Given the description of an element on the screen output the (x, y) to click on. 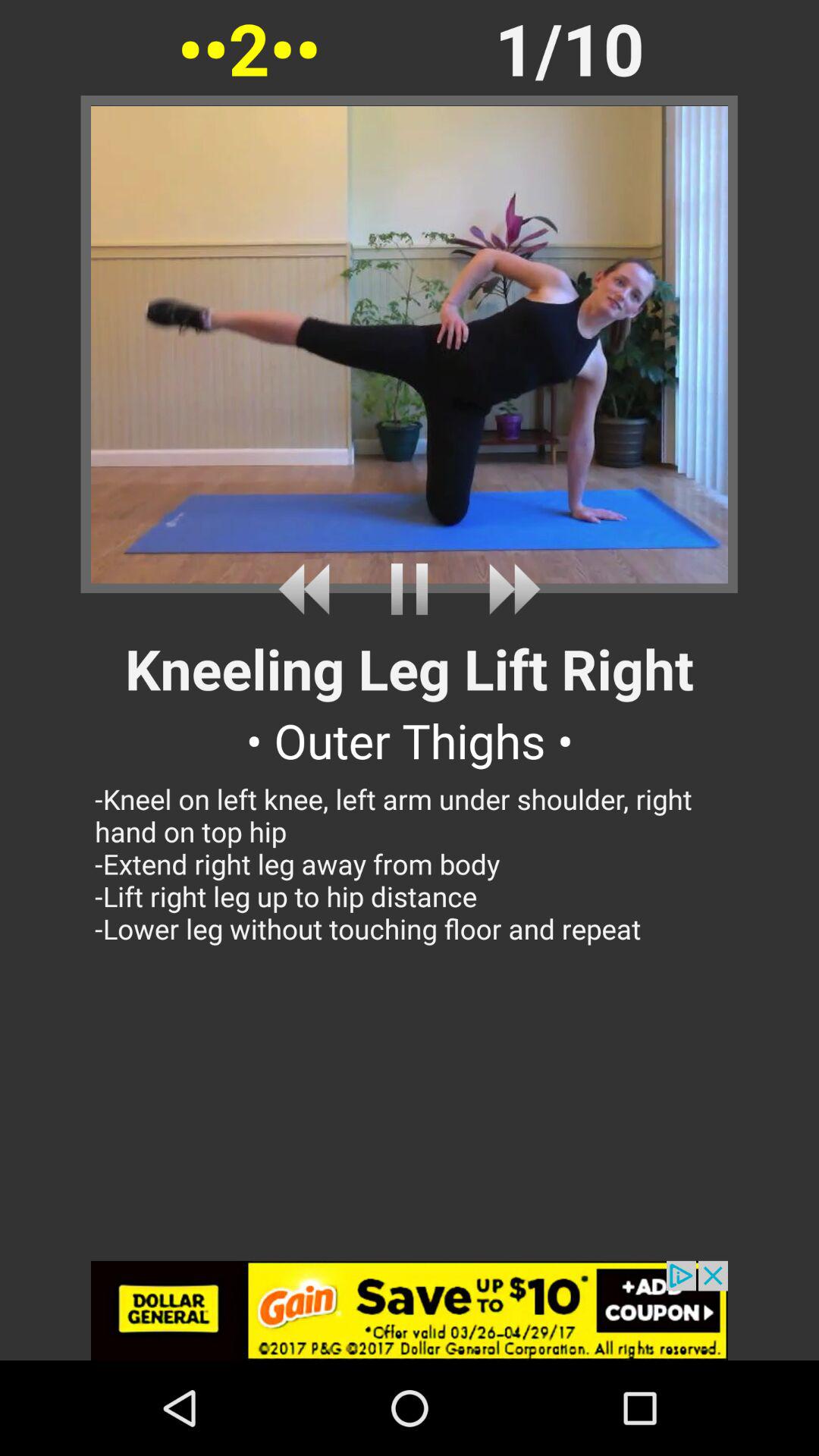
go to previous (309, 589)
